Given the description of an element on the screen output the (x, y) to click on. 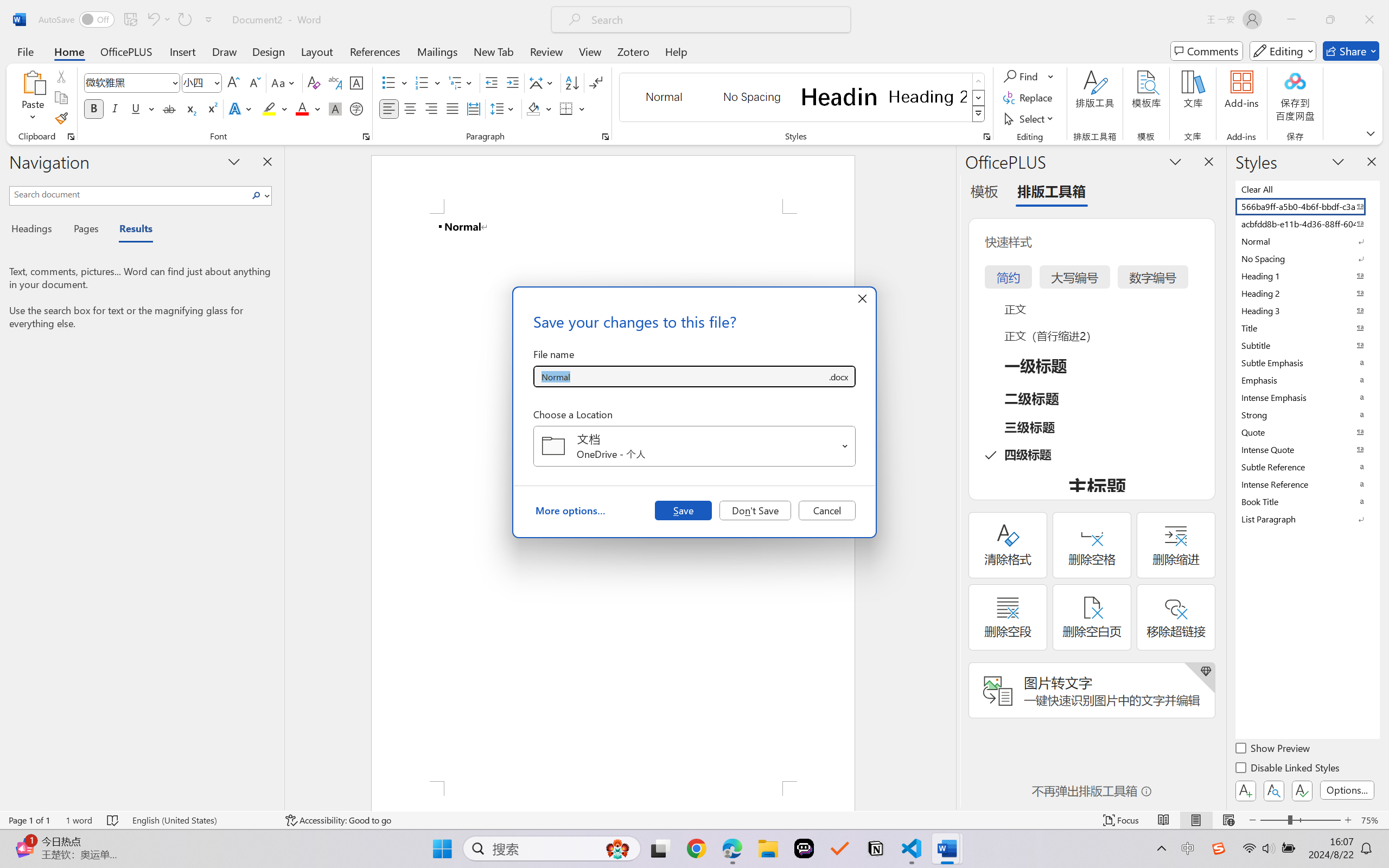
Microsoft search (715, 19)
Asian Layout (542, 82)
Styles (978, 113)
Format Painter (60, 118)
Poe (804, 848)
Borders (571, 108)
Open (844, 446)
Change Case (284, 82)
Class: NetUIScrollBar (948, 477)
Paragraph... (605, 136)
Font Size (201, 82)
